Given the description of an element on the screen output the (x, y) to click on. 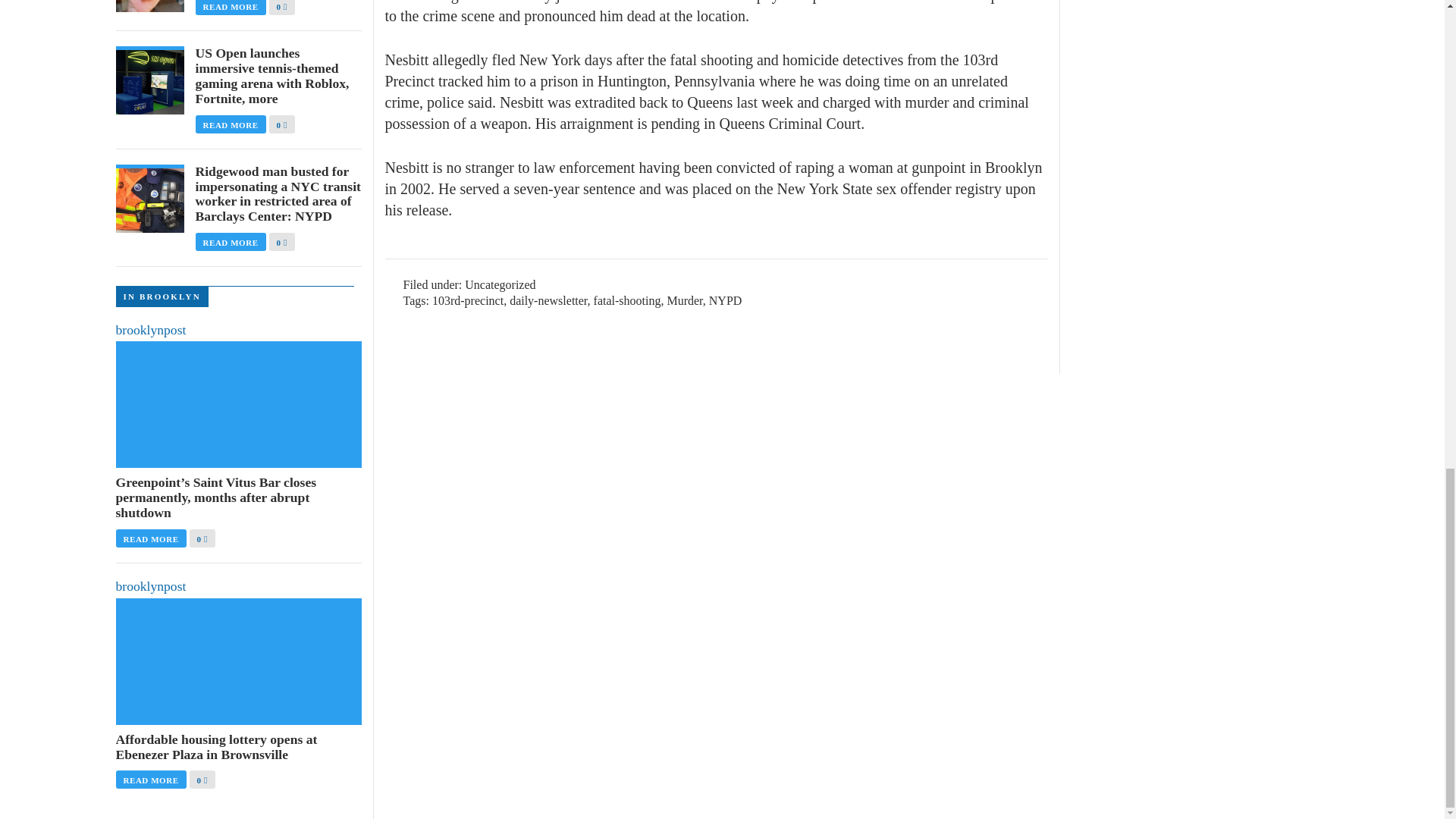
Murder (683, 300)
NYPD (725, 300)
103rd-precinct (467, 300)
fatal-shooting (627, 300)
daily-newsletter (547, 300)
